Given the description of an element on the screen output the (x, y) to click on. 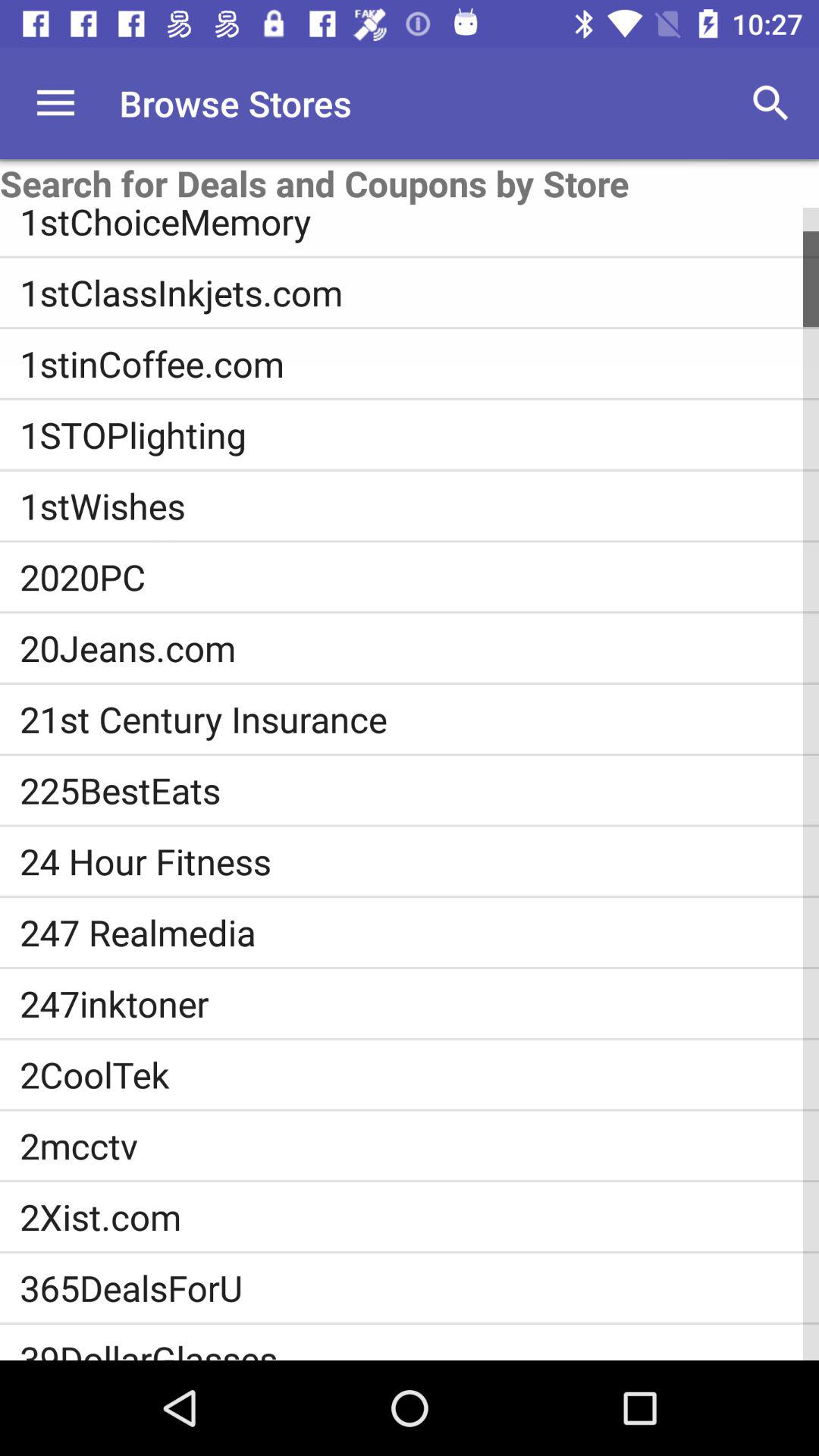
swipe to the 1stincoffee.com (419, 363)
